Given the description of an element on the screen output the (x, y) to click on. 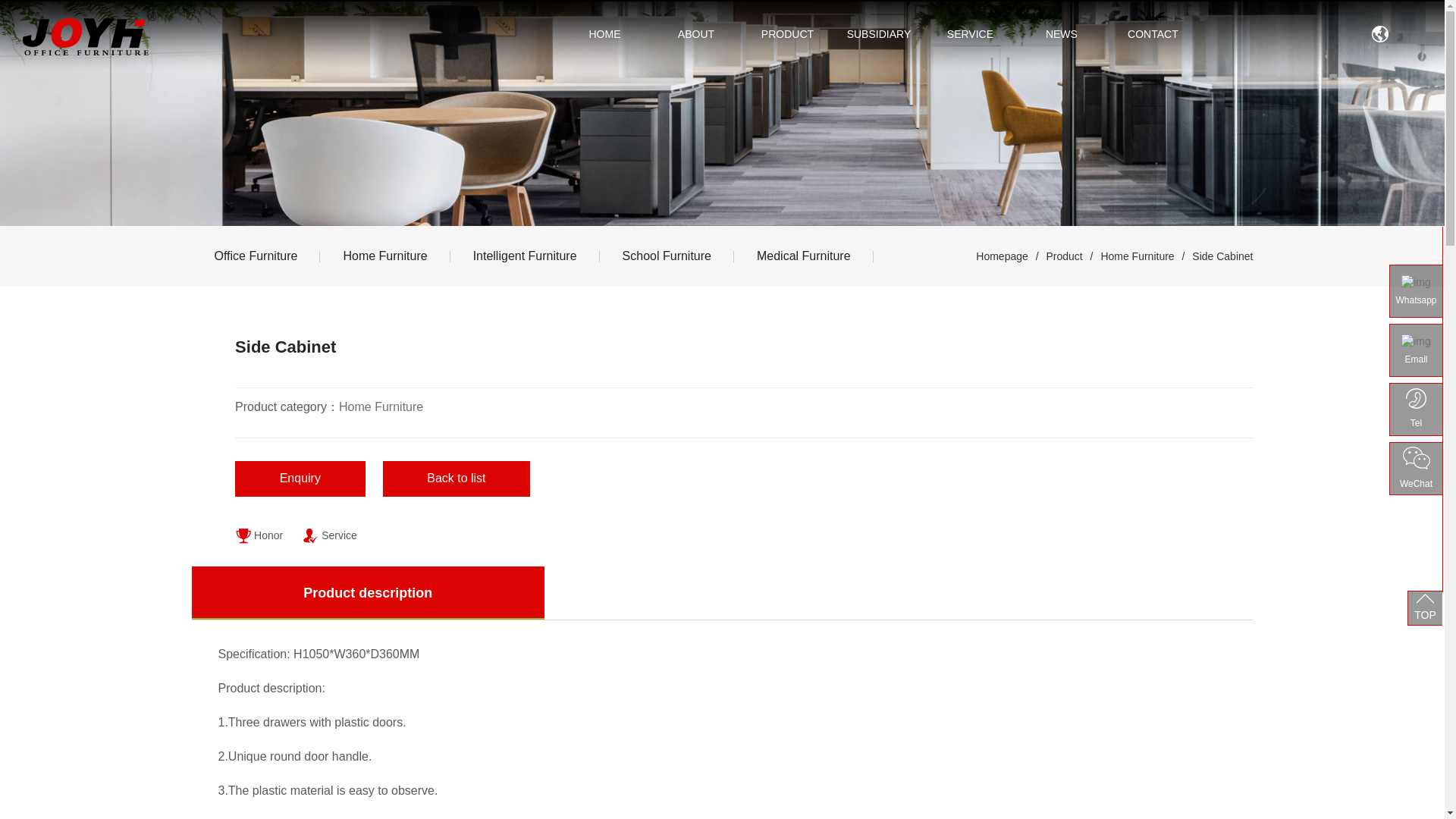
School  Furniture (666, 256)
CONTACT (1152, 33)
Enquiry (299, 479)
Medical  Furniture (803, 256)
Home  Furniture (384, 256)
Enquiry (301, 481)
Homepage (1001, 256)
Product (1063, 256)
Intelligent Furniture (524, 256)
SUBSIDIARY (878, 33)
